Given the description of an element on the screen output the (x, y) to click on. 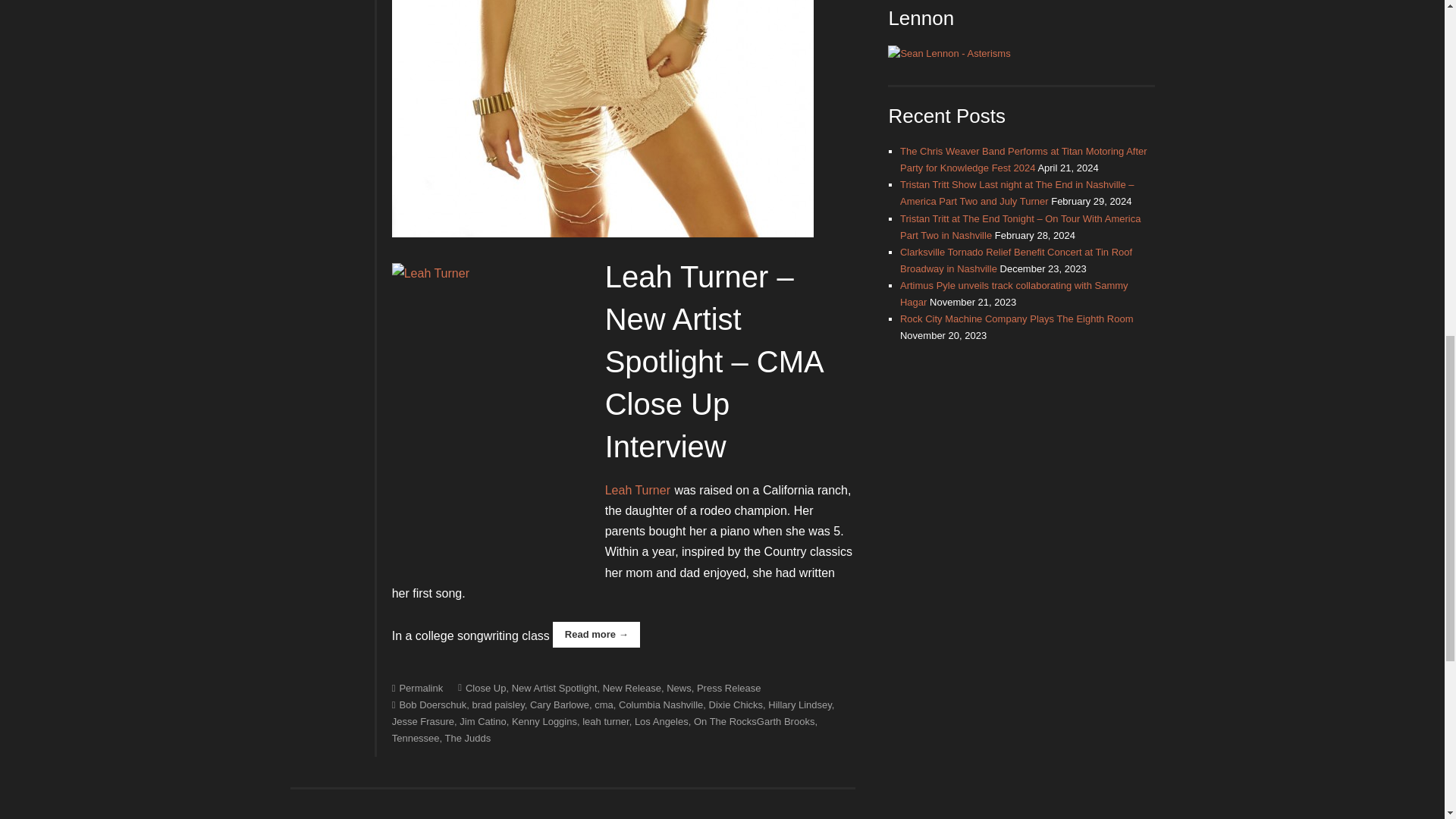
Press Release (729, 687)
brad paisley (497, 704)
News (678, 687)
Bob Doerschuk (429, 704)
Dixie Chicks (735, 704)
Cary Barlowe (559, 704)
Close Up (481, 687)
Permalink (417, 687)
cma (603, 704)
Leah Turner (637, 490)
